Given the description of an element on the screen output the (x, y) to click on. 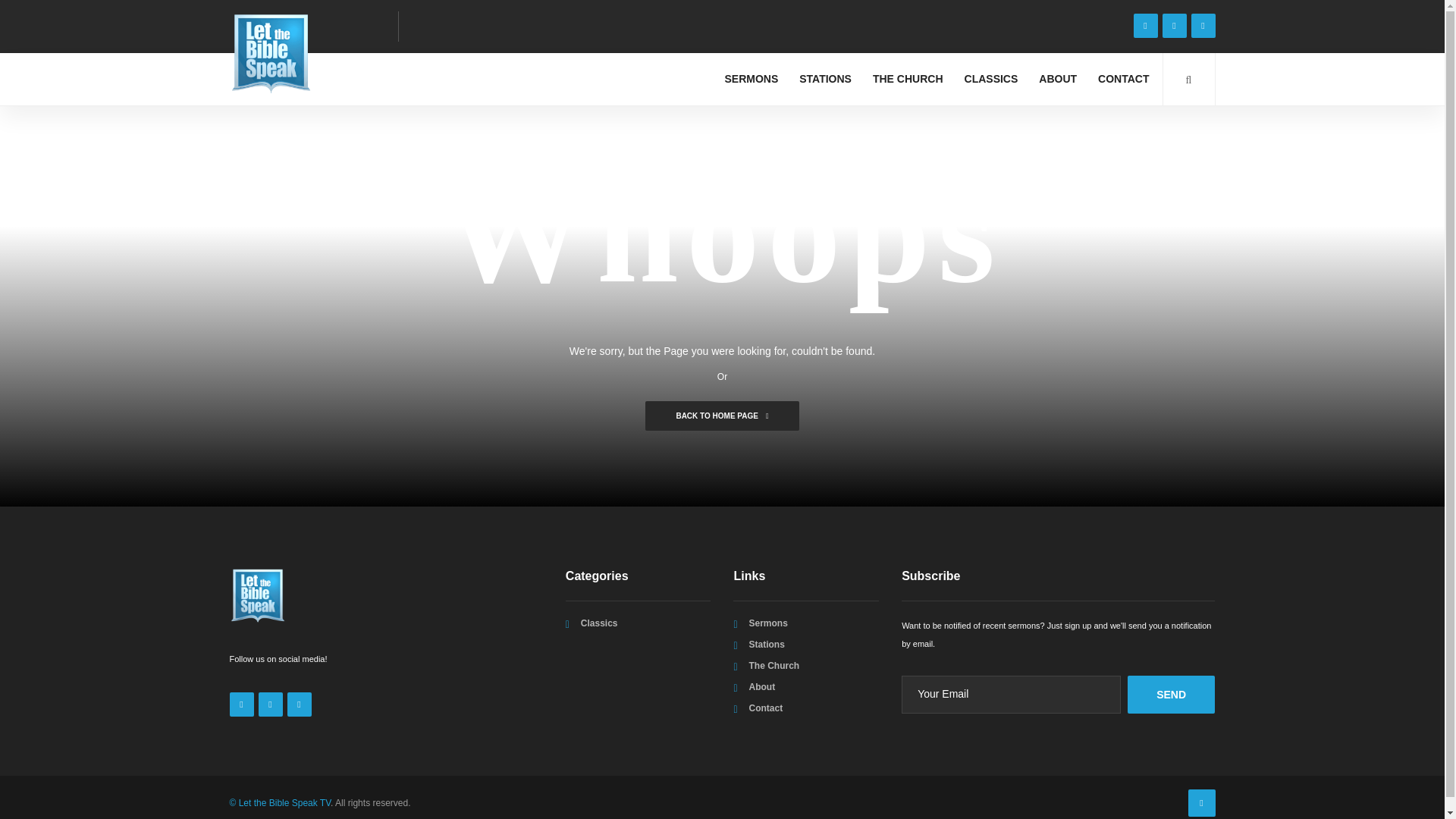
SEND (1170, 694)
Contact (765, 707)
The Church (773, 665)
CONTACT (1123, 79)
SERMONS (751, 79)
ABOUT (1057, 79)
Classics (598, 623)
THE CHURCH (908, 79)
BACK TO HOME PAGE (721, 415)
STATIONS (825, 79)
